Given the description of an element on the screen output the (x, y) to click on. 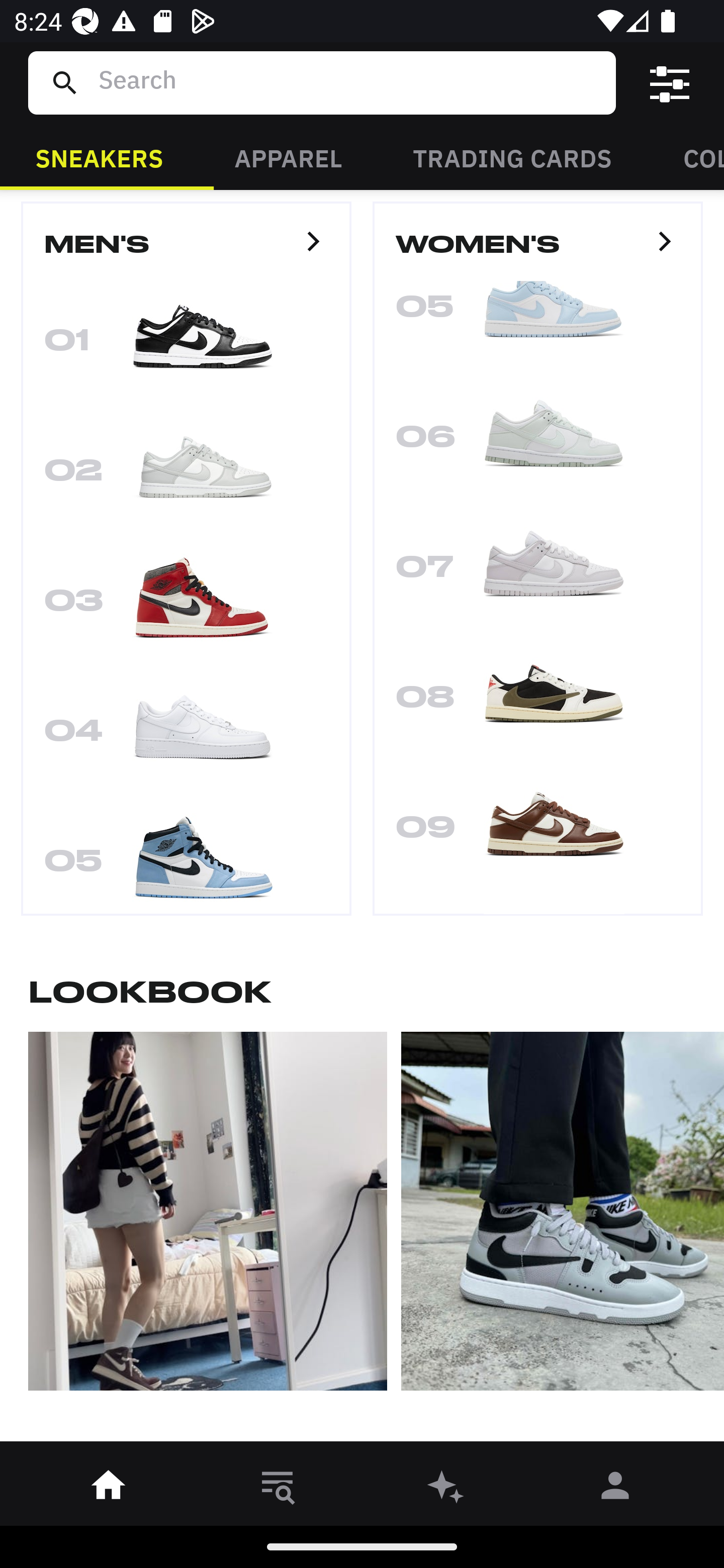
Search (349, 82)
 (669, 82)
SNEAKERS (99, 156)
APPAREL (287, 156)
TRADING CARDS (512, 156)
MEN'S  (186, 252)
WOMEN'S  (538, 252)
01 (186, 345)
05 (538, 328)
06 (538, 442)
02 (186, 475)
07 (538, 573)
03 (186, 605)
08 (538, 703)
04 (186, 736)
09 (538, 833)
05 (186, 857)
󰋜 (108, 1488)
󱎸 (277, 1488)
󰫢 (446, 1488)
󰀄 (615, 1488)
